Given the description of an element on the screen output the (x, y) to click on. 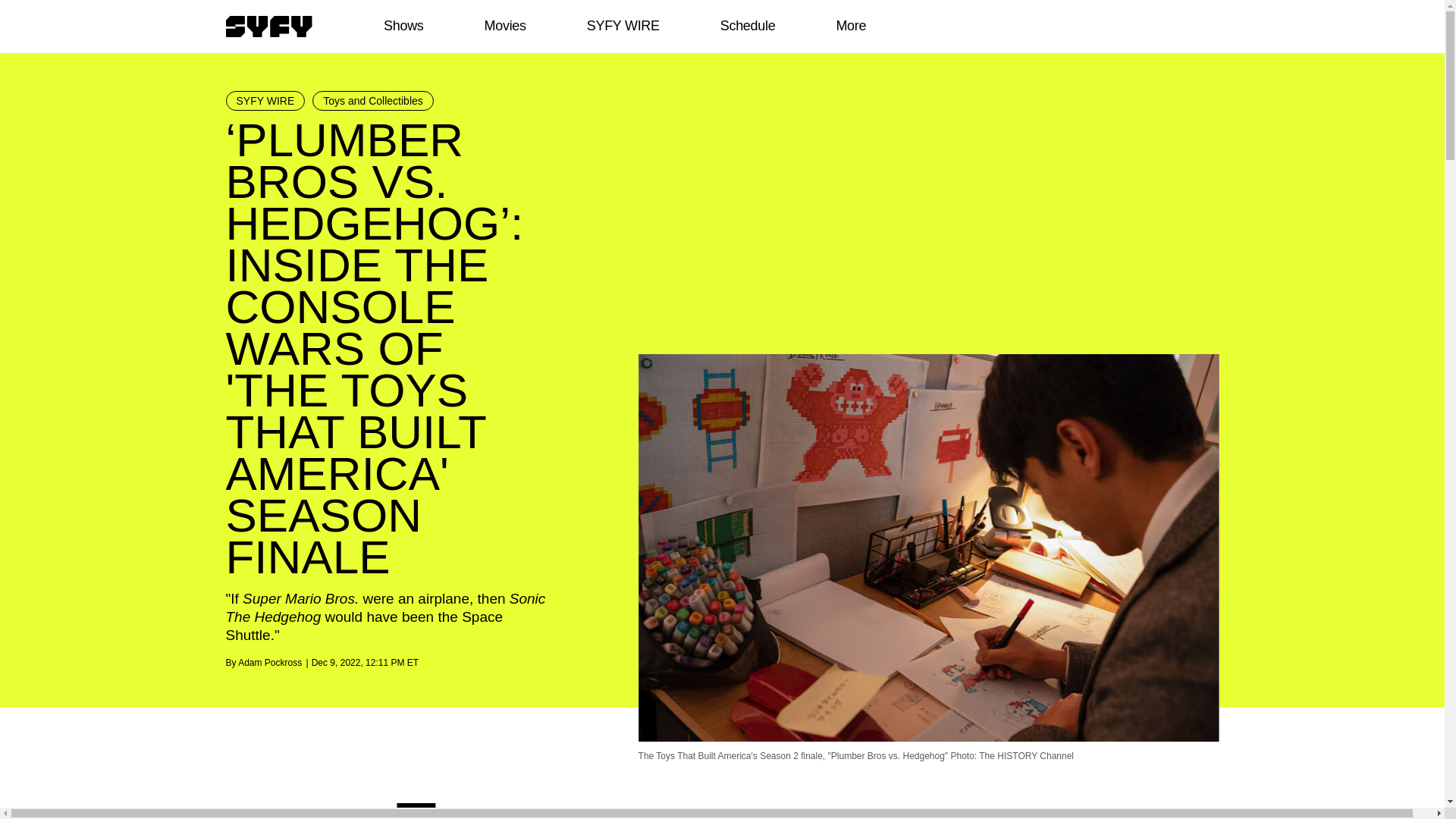
Shows (403, 26)
Movies (504, 26)
Toys and Collectibles (373, 100)
More (850, 26)
Adam Pockross (269, 662)
SYFY WIRE (265, 100)
SYFY WIRE (622, 26)
Schedule (746, 26)
